Given the description of an element on the screen output the (x, y) to click on. 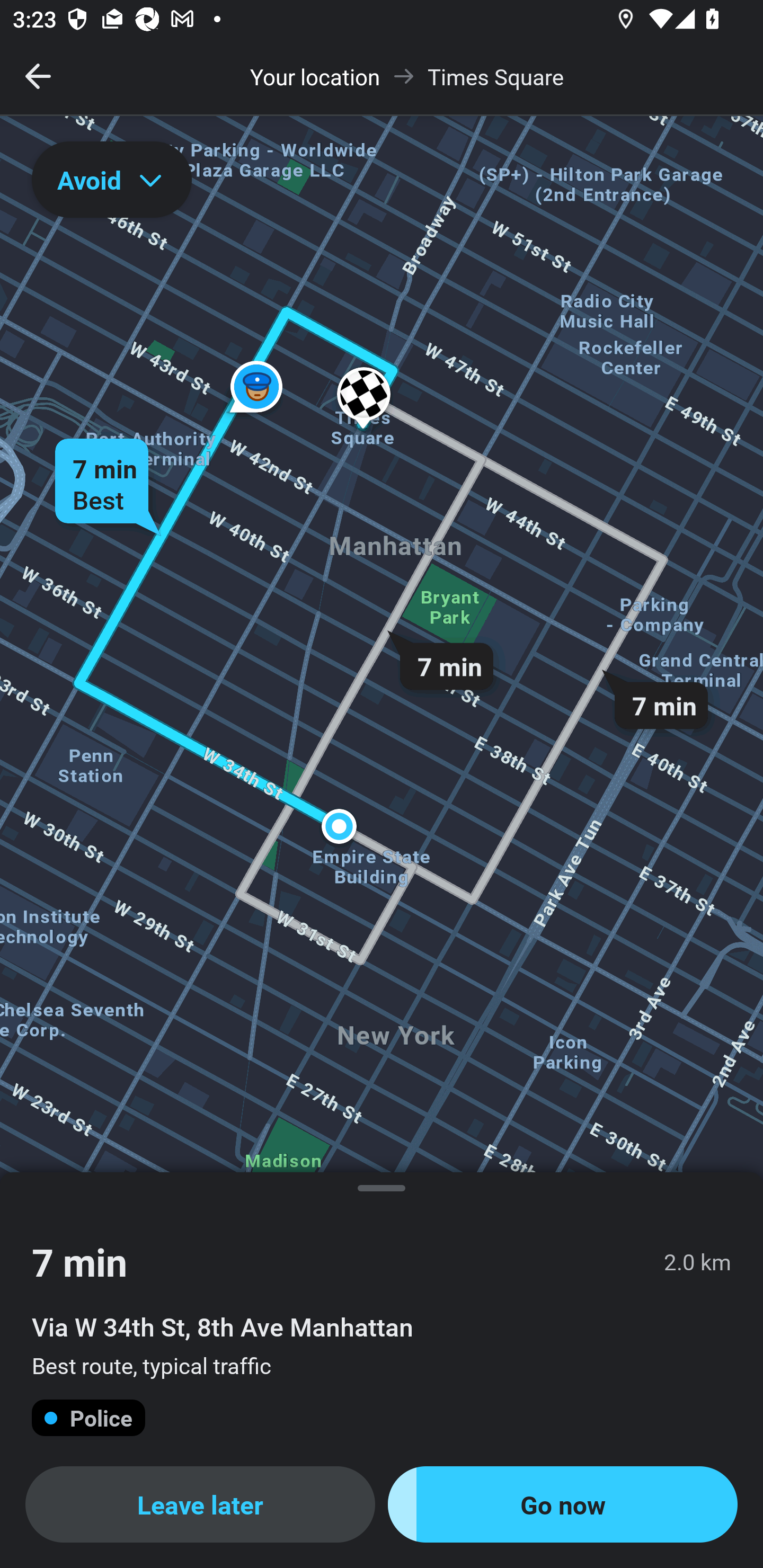
Leave later (200, 1504)
Go now (562, 1504)
